Given the description of an element on the screen output the (x, y) to click on. 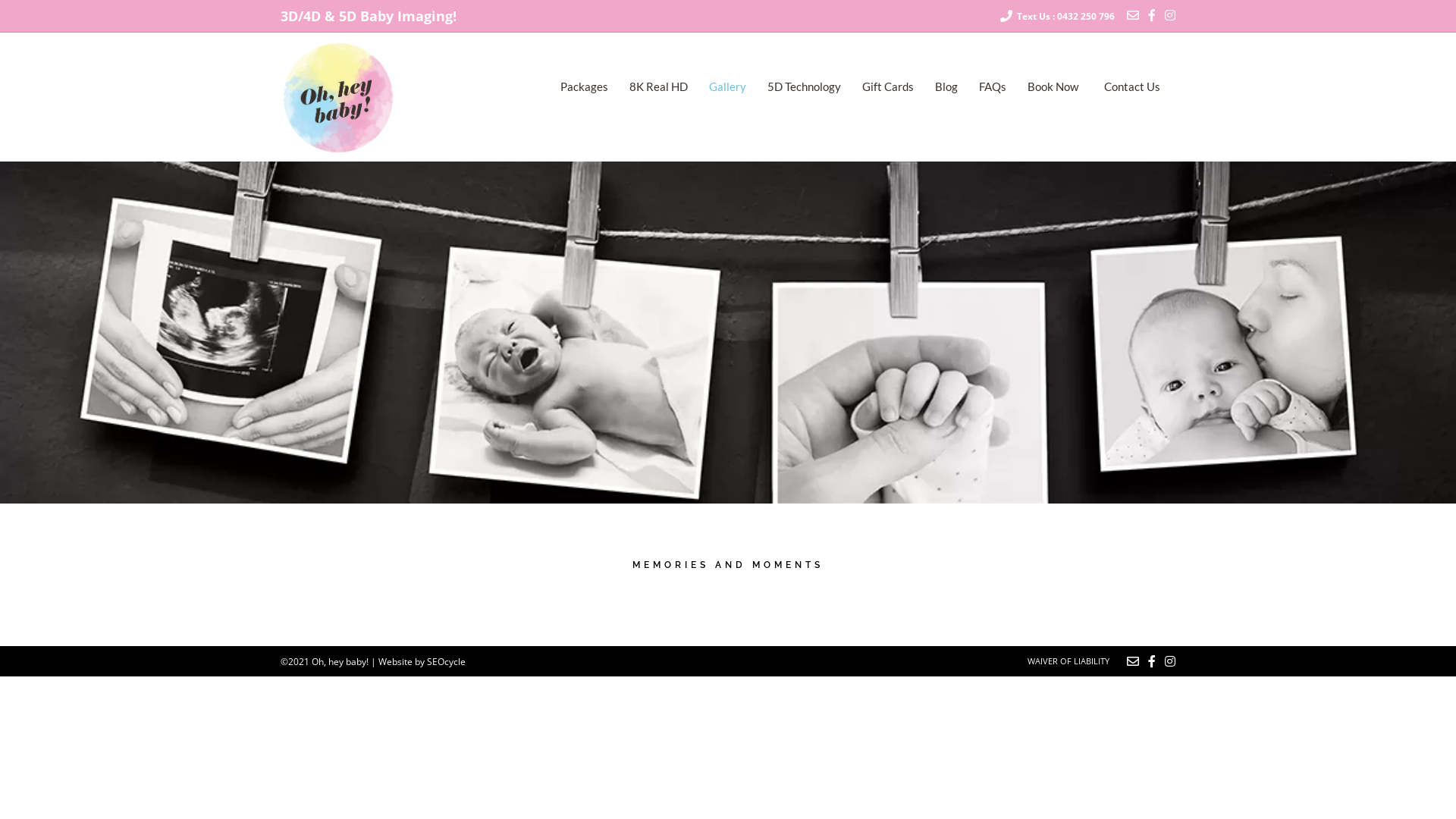
Contact Us Element type: text (1131, 88)
5D Technology Element type: text (803, 88)
Send Us an Email Element type: hover (1132, 661)
8K Real HD Element type: text (658, 88)
Gallery Element type: text (727, 88)
Follow Us on Instagram Element type: hover (1169, 661)
Blog Element type: text (946, 88)
Follow Us on Instagram Element type: hover (1169, 15)
Send Us an Email Element type: hover (1132, 15)
WAIVER OF LIABILITY Element type: text (1068, 660)
FAQs Element type: text (992, 88)
SEOcycle Element type: text (445, 661)
Book Now Element type: text (1052, 88)
Find Us on Facebook Element type: hover (1151, 15)
Packages Element type: text (583, 88)
Gift Cards Element type: text (887, 88)
Find Us on Facebook Element type: hover (1151, 661)
